Given the description of an element on the screen output the (x, y) to click on. 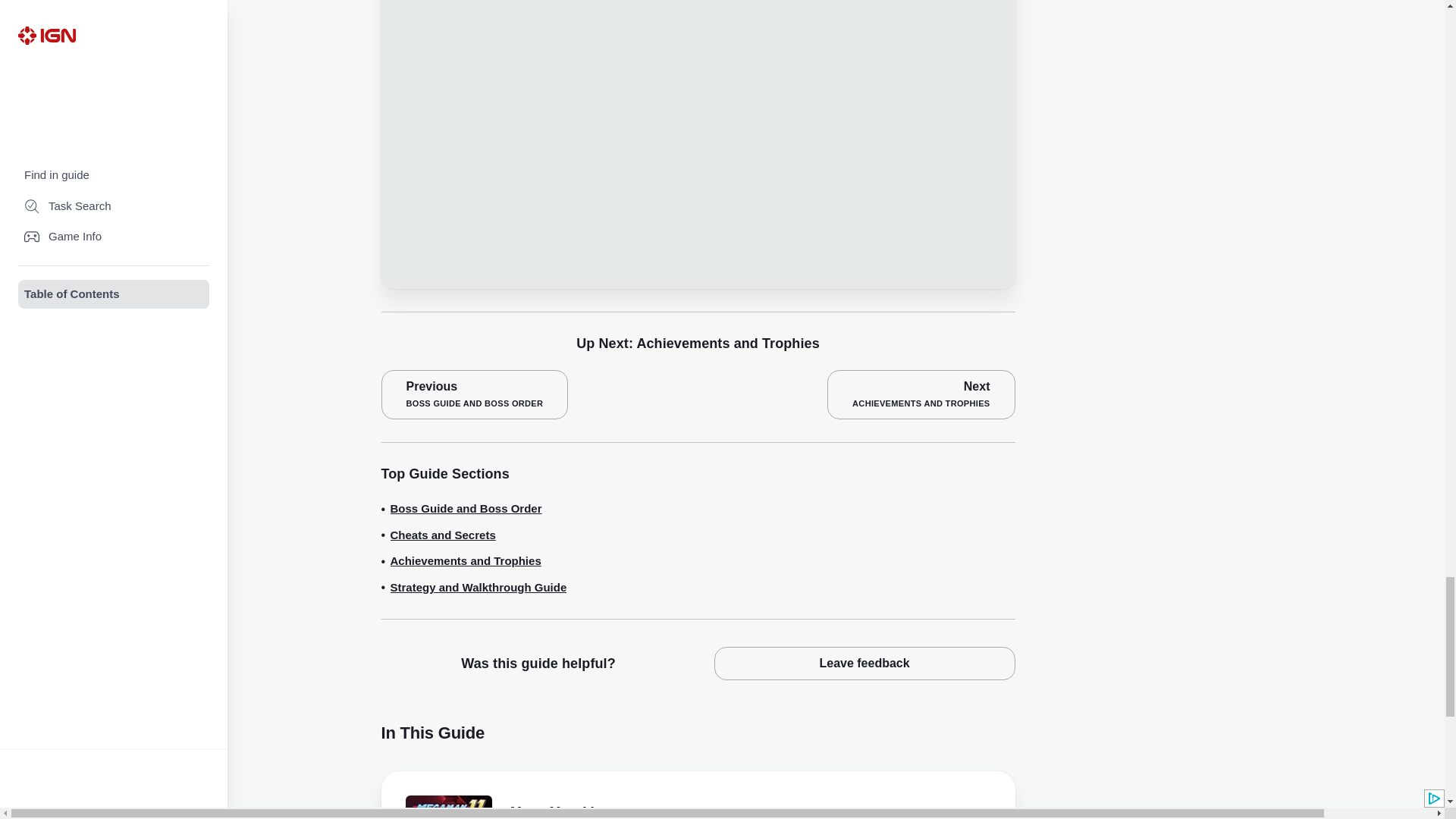
Achievements and Trophies (465, 561)
Strategy and Walkthrough Guide (478, 588)
Cheats and Secrets (442, 535)
Mega Man 11 (641, 811)
Leave feedback (864, 663)
Boss Guide and Boss Order (465, 508)
